Given the description of an element on the screen output the (x, y) to click on. 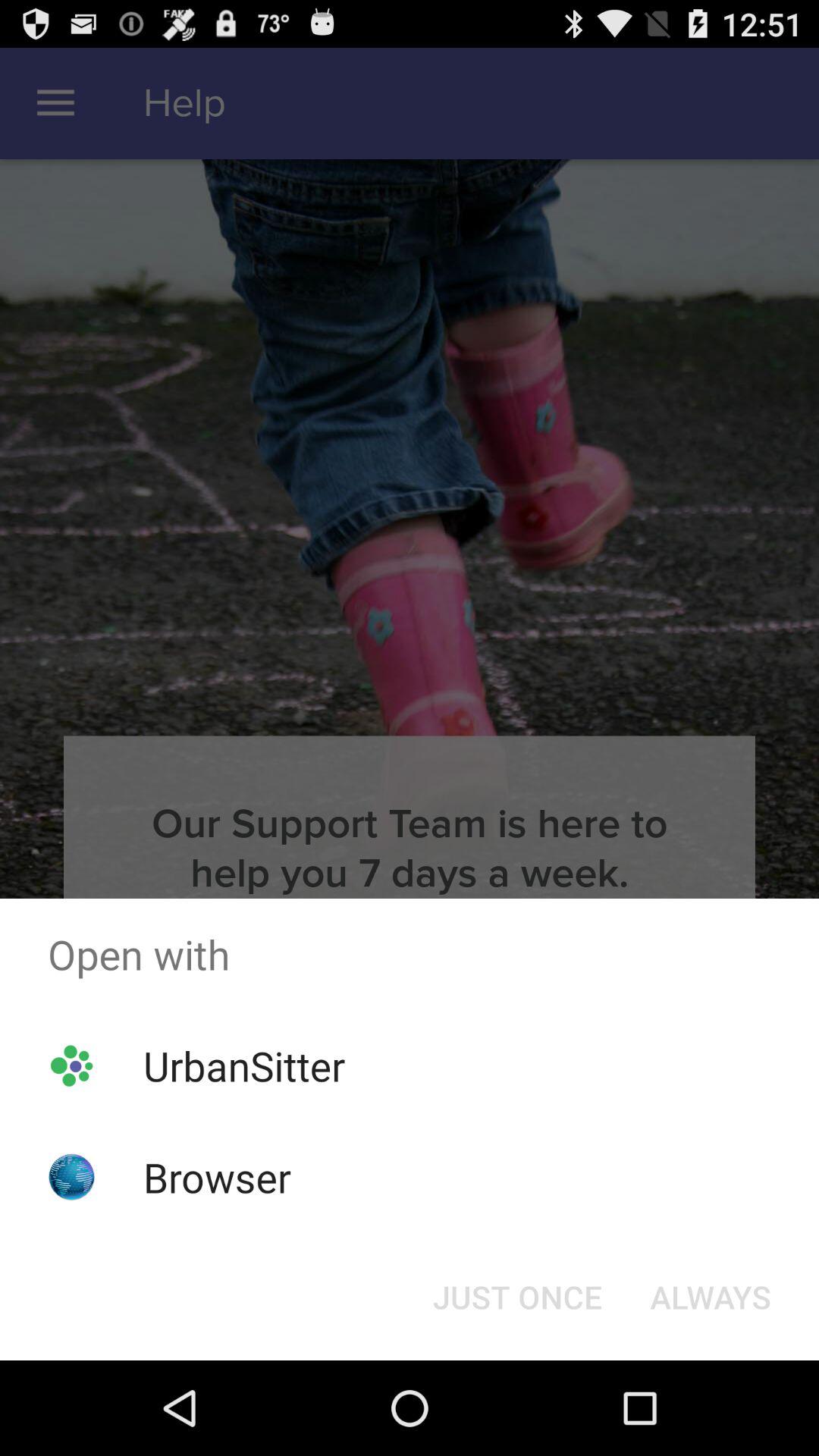
swipe until just once icon (517, 1296)
